Given the description of an element on the screen output the (x, y) to click on. 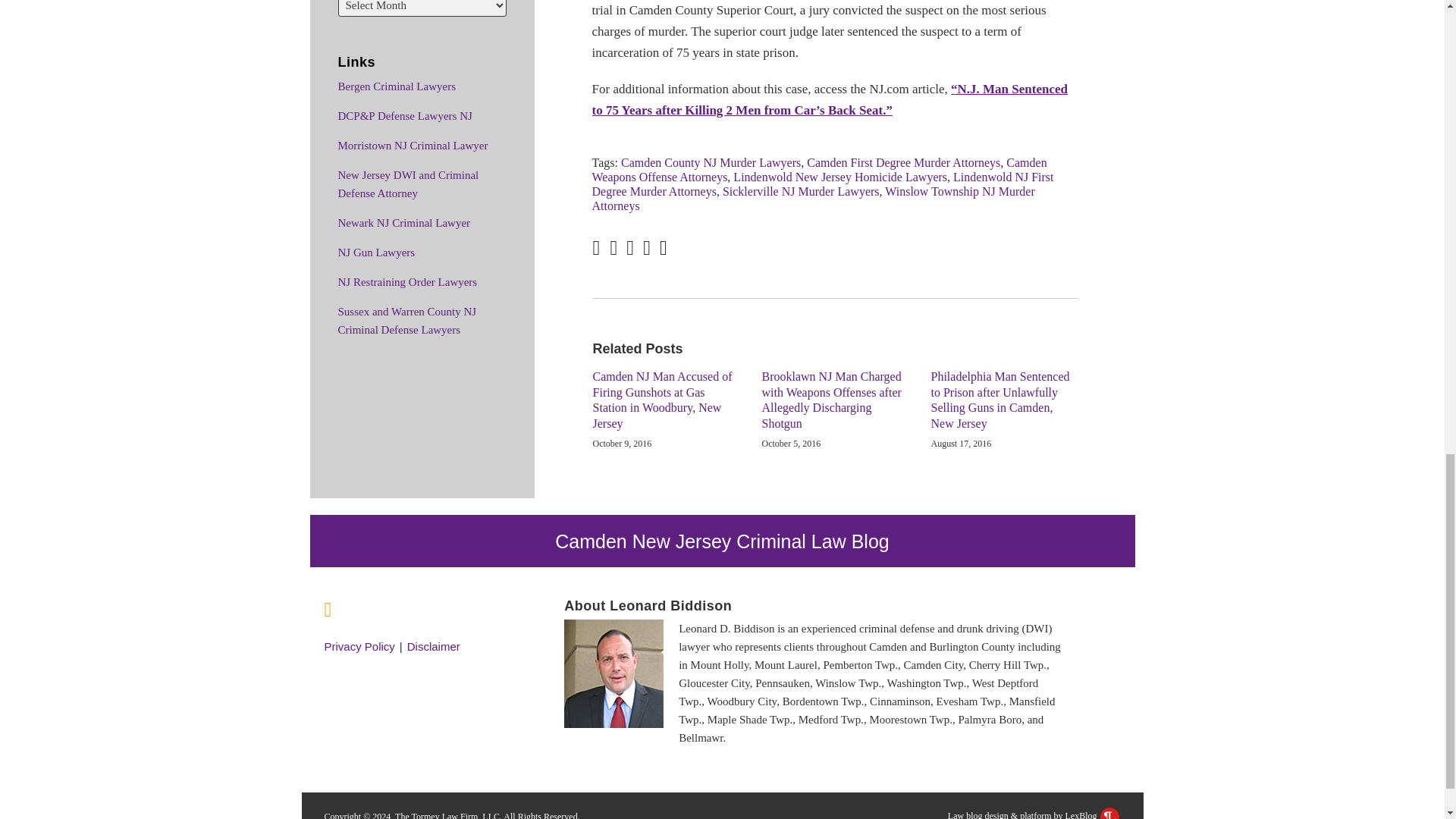
Camden Weapons Offense Attorneys (819, 169)
Sussex and Warren County Criminal Defense Attorneys (407, 320)
New Jersey DWI and Criminal Defense Attorney (408, 183)
Sicklerville NJ Murder Lawyers (800, 191)
Lindenwold New Jersey Homicide Lawyers (840, 176)
Bergen Criminal Lawyers (397, 86)
Camden First Degree Murder Attorneys (903, 162)
Winslow Township NJ Murder Attorneys (813, 198)
Lindenwold NJ First Degree Murder Attorneys (823, 184)
Camden County NJ Murder Lawyers (710, 162)
Morristown NJ Criminal Lawyer (412, 145)
